Given the description of an element on the screen output the (x, y) to click on. 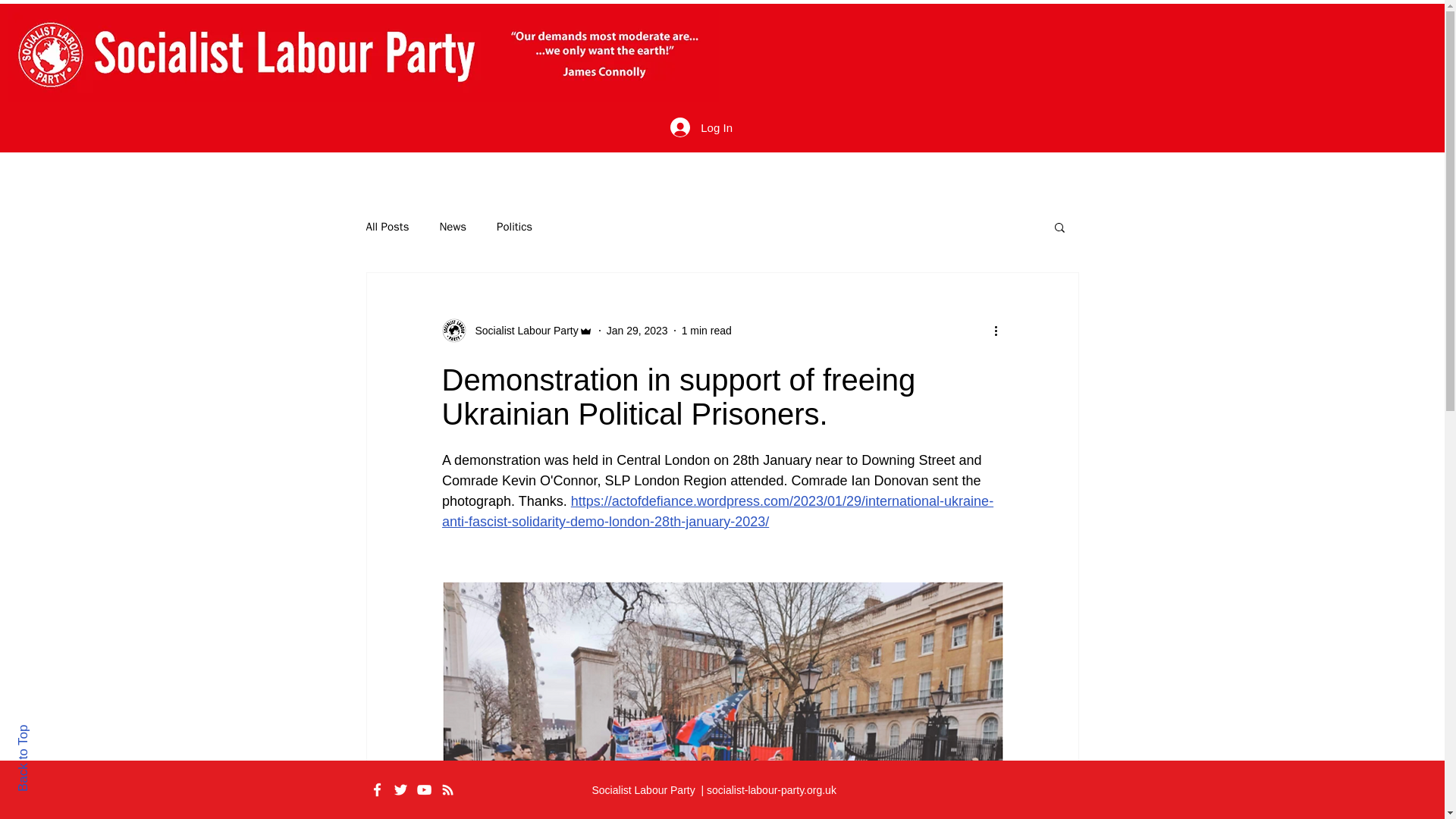
Socialist Labour Party (516, 330)
Back to Top (49, 730)
Jan 29, 2023 (637, 330)
News (452, 227)
Politics (514, 227)
All Posts (387, 227)
Socialist Labour Party (521, 330)
1 min read (706, 330)
Log In (700, 127)
